Given the description of an element on the screen output the (x, y) to click on. 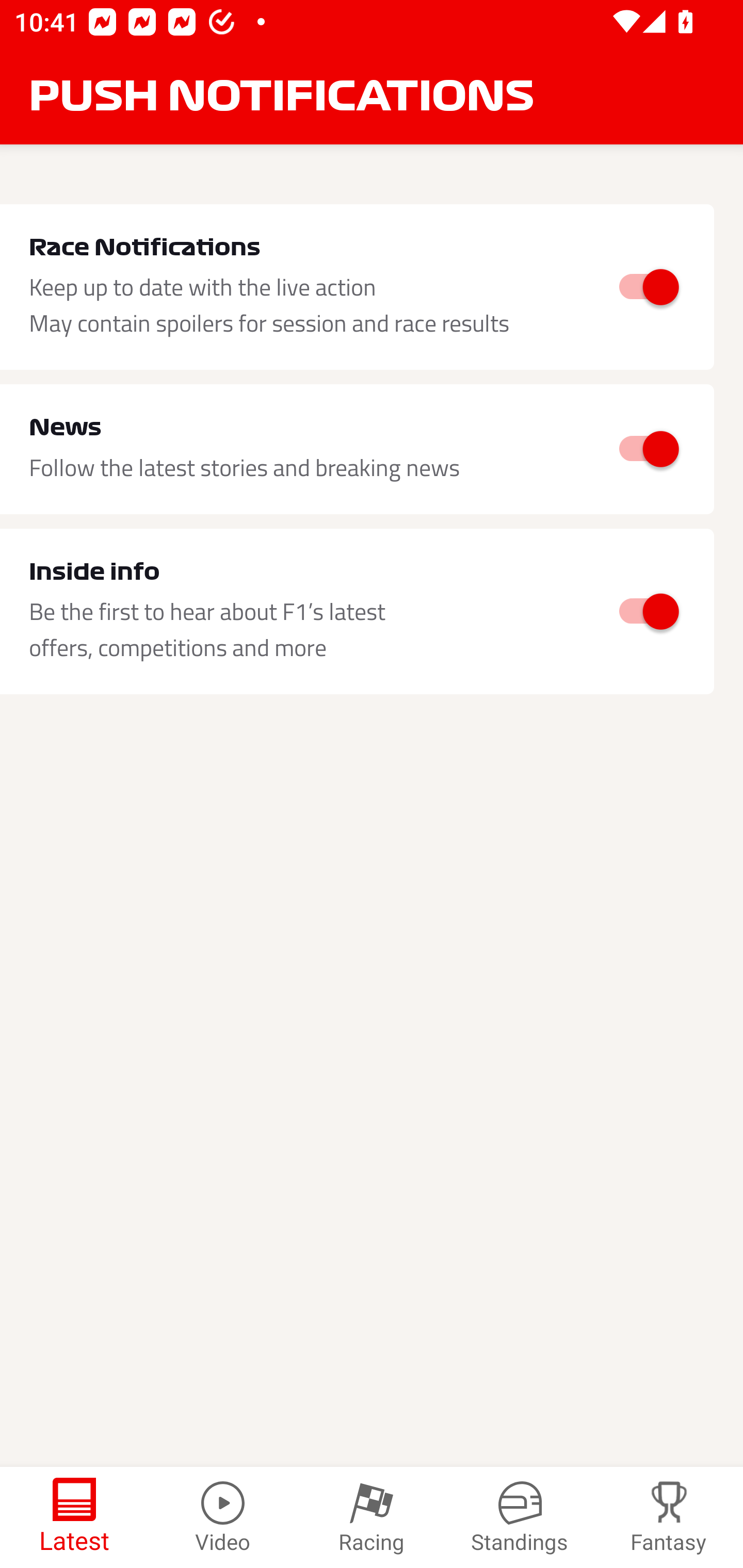
Video (222, 1517)
Racing (371, 1517)
Standings (519, 1517)
Fantasy (668, 1517)
